Given the description of an element on the screen output the (x, y) to click on. 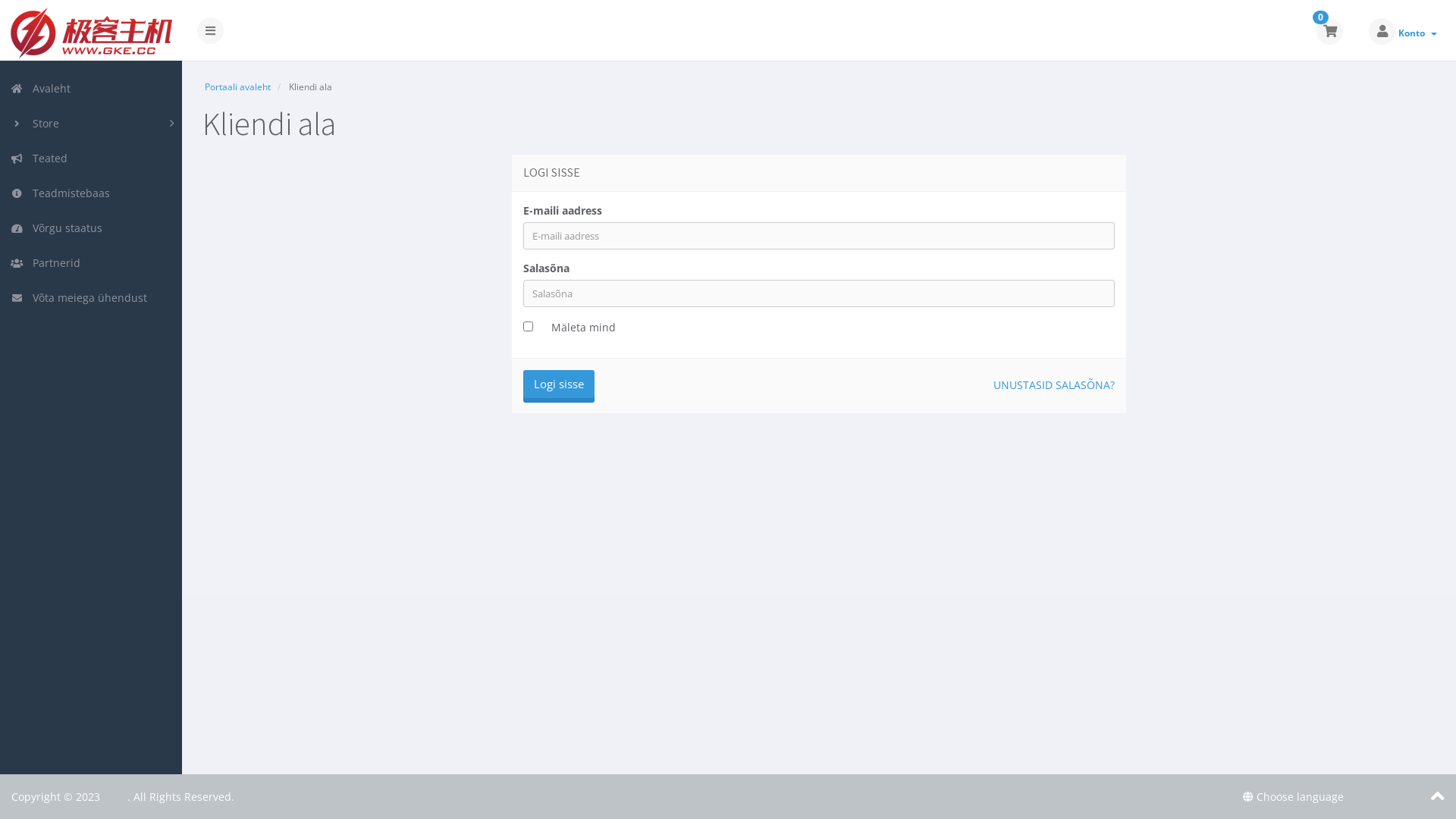
Portaali avaleht Element type: text (237, 86)
  Teated Element type: text (91, 158)
  Partnerid Element type: text (91, 262)
  Store Element type: text (91, 123)
  Teadmistebaas Element type: text (91, 193)
  Avaleht Element type: text (91, 88)
Konto   Element type: text (1417, 32)
Choose language Element type: text (1292, 796)
Logi sisse Element type: text (558, 384)
